Given the description of an element on the screen output the (x, y) to click on. 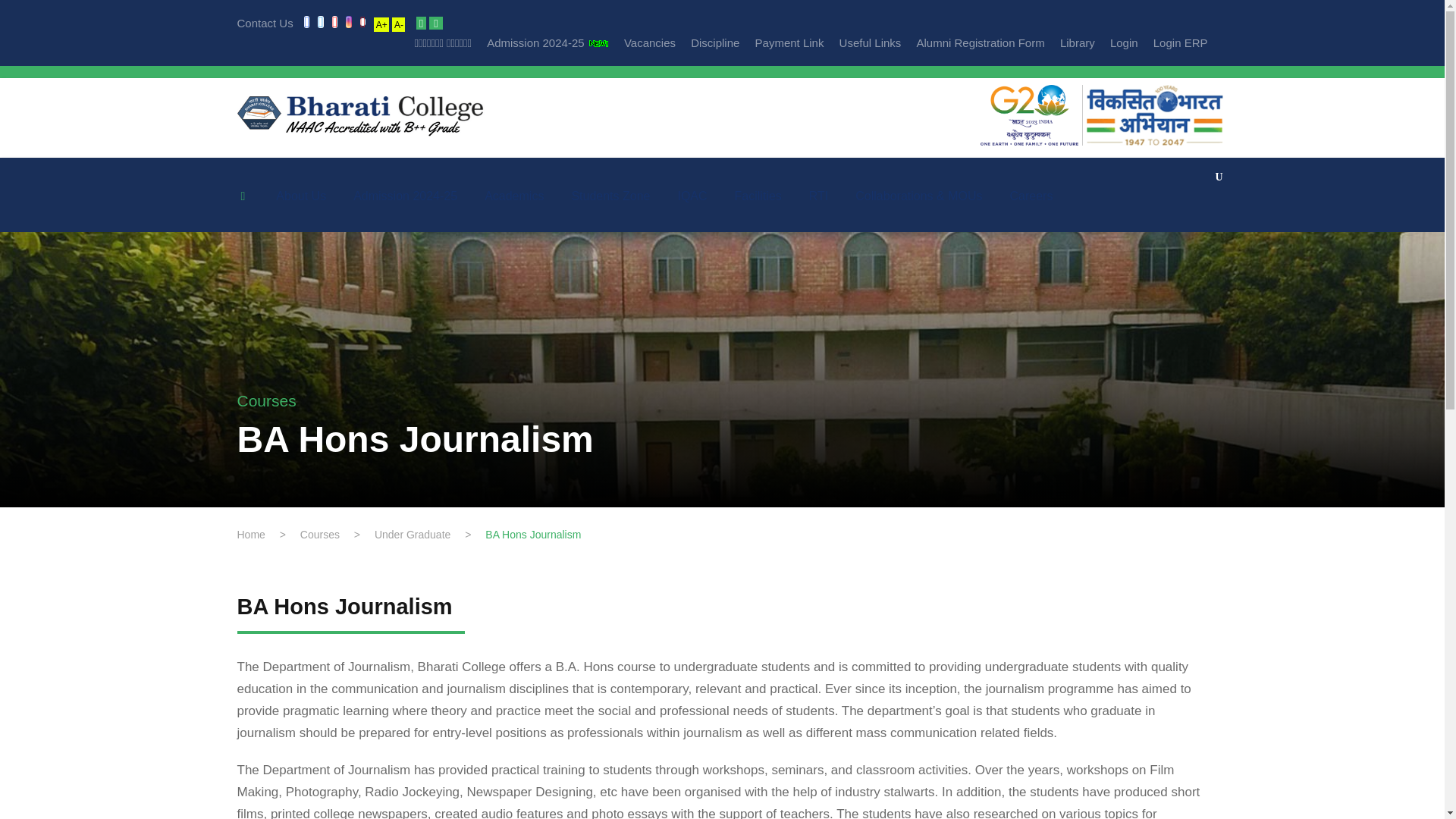
Text Increase (381, 23)
Stop (435, 22)
Twitter (324, 22)
Text Decrease (397, 23)
Facebook (307, 22)
Instagram (352, 22)
